Given the description of an element on the screen output the (x, y) to click on. 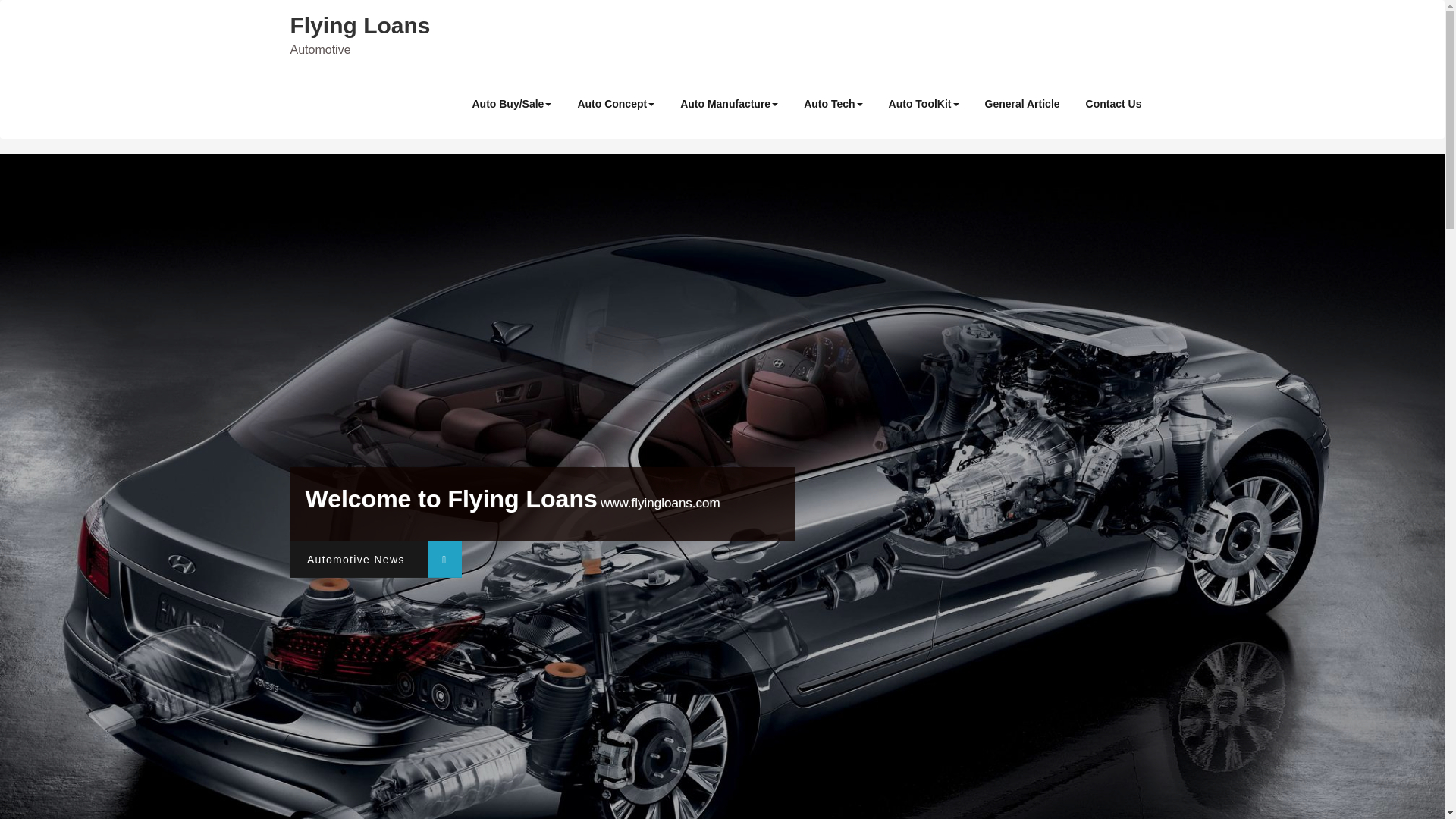
Auto Tech (832, 103)
Auto Concept (615, 103)
General Article (1022, 103)
Auto ToolKit (924, 103)
Automotive News (375, 559)
Flying Loans (359, 25)
Auto Manufacture (728, 103)
Contact Us (1113, 103)
